Given the description of an element on the screen output the (x, y) to click on. 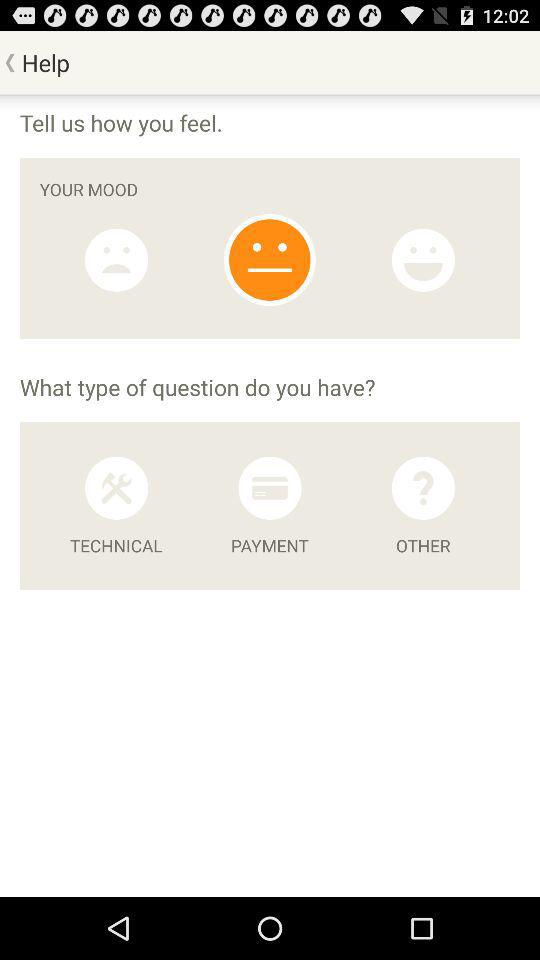
other (423, 488)
